Given the description of an element on the screen output the (x, y) to click on. 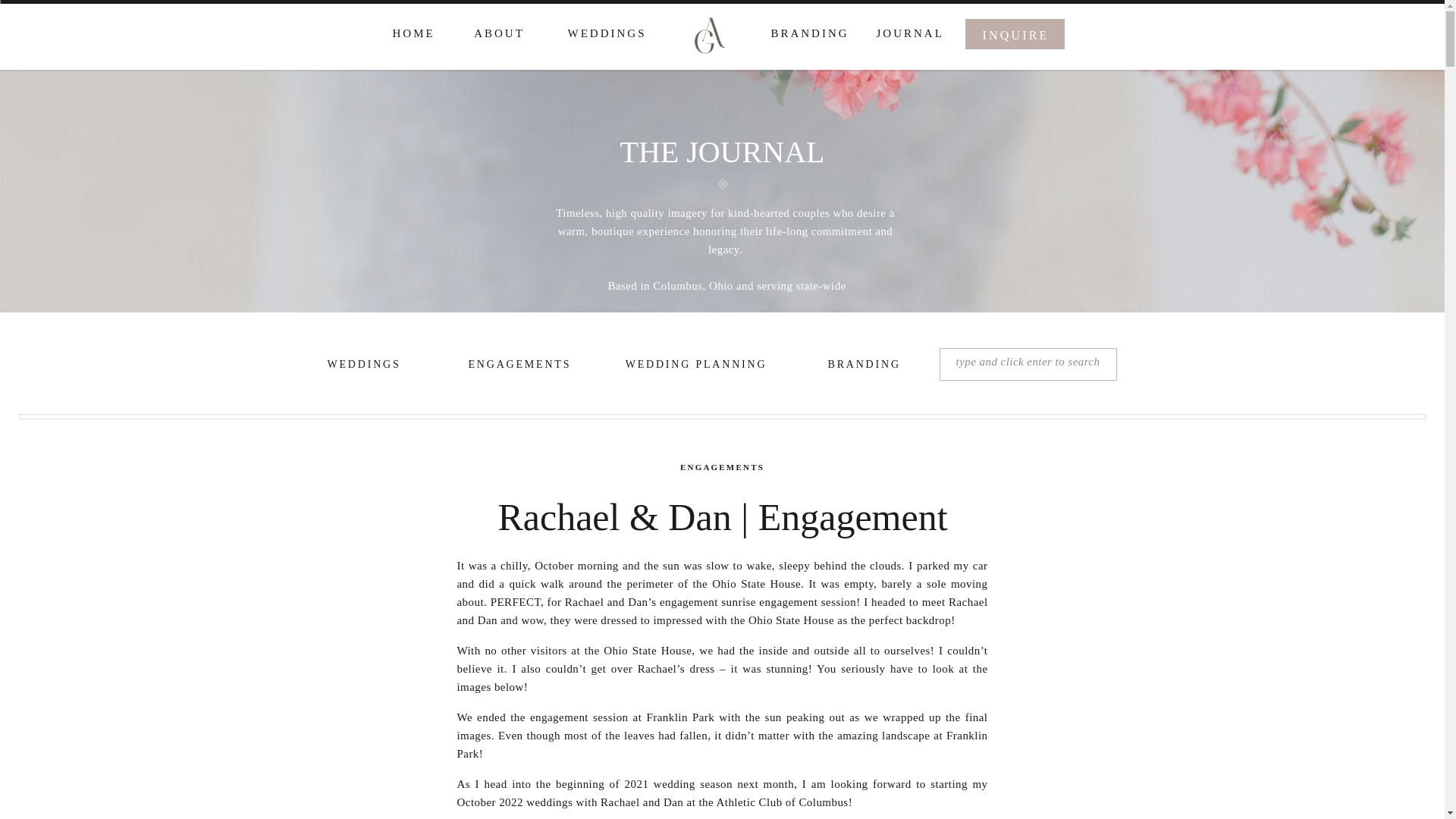
ENGAGEMENTS (721, 466)
ABOUT (499, 33)
ENGAGEMENTS (514, 366)
WEDDINGS (606, 33)
JOURNAL (906, 33)
HOME (412, 33)
WEDDING PLANNING (696, 366)
BRANDING (810, 33)
BRANDING (862, 366)
WEDDINGS (361, 366)
